Given the description of an element on the screen output the (x, y) to click on. 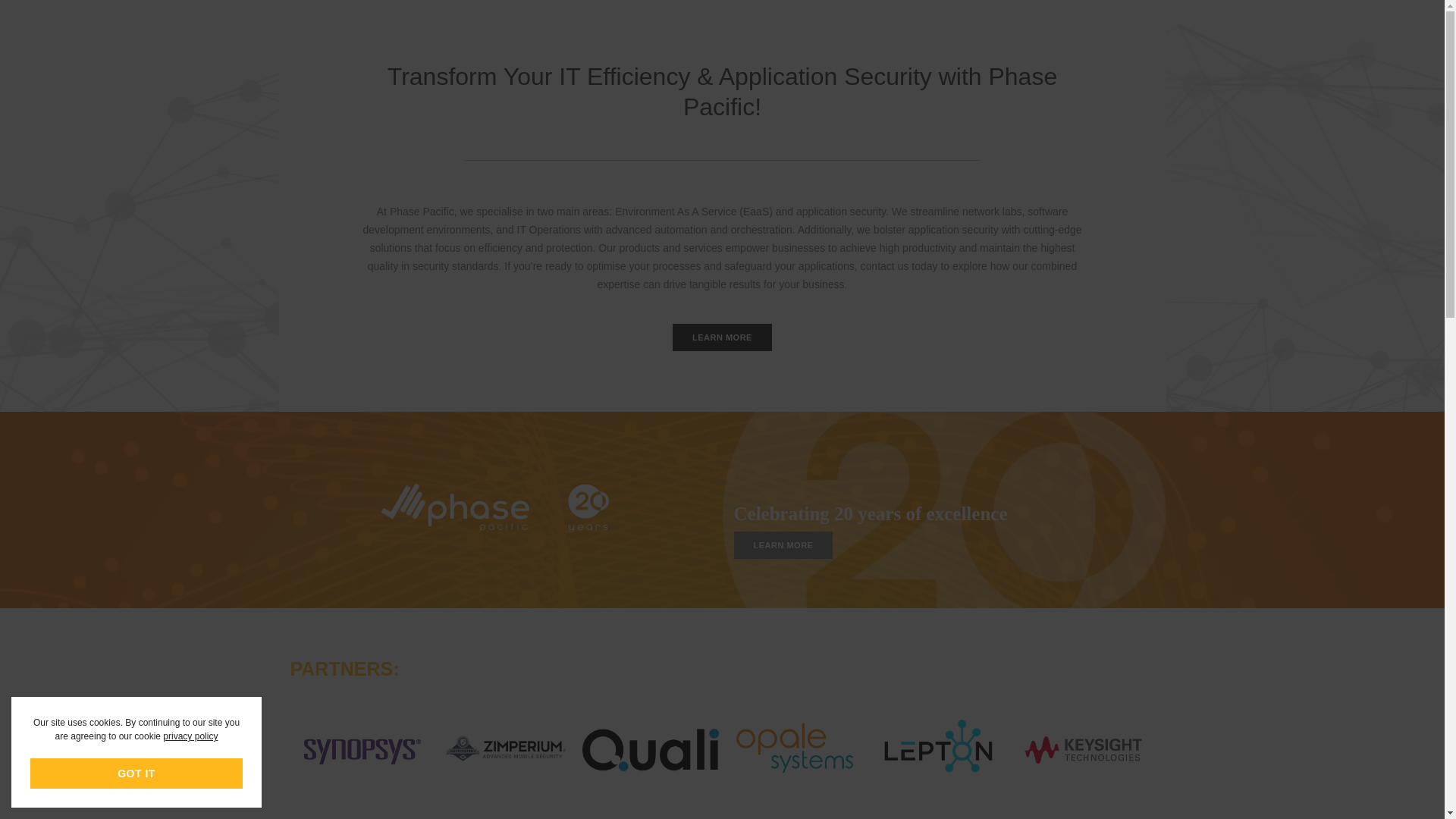
SOLUTIONS (777, 27)
PARTNERS (611, 27)
Phase Pacific (315, 26)
PRODUCTS (692, 27)
